Given the description of an element on the screen output the (x, y) to click on. 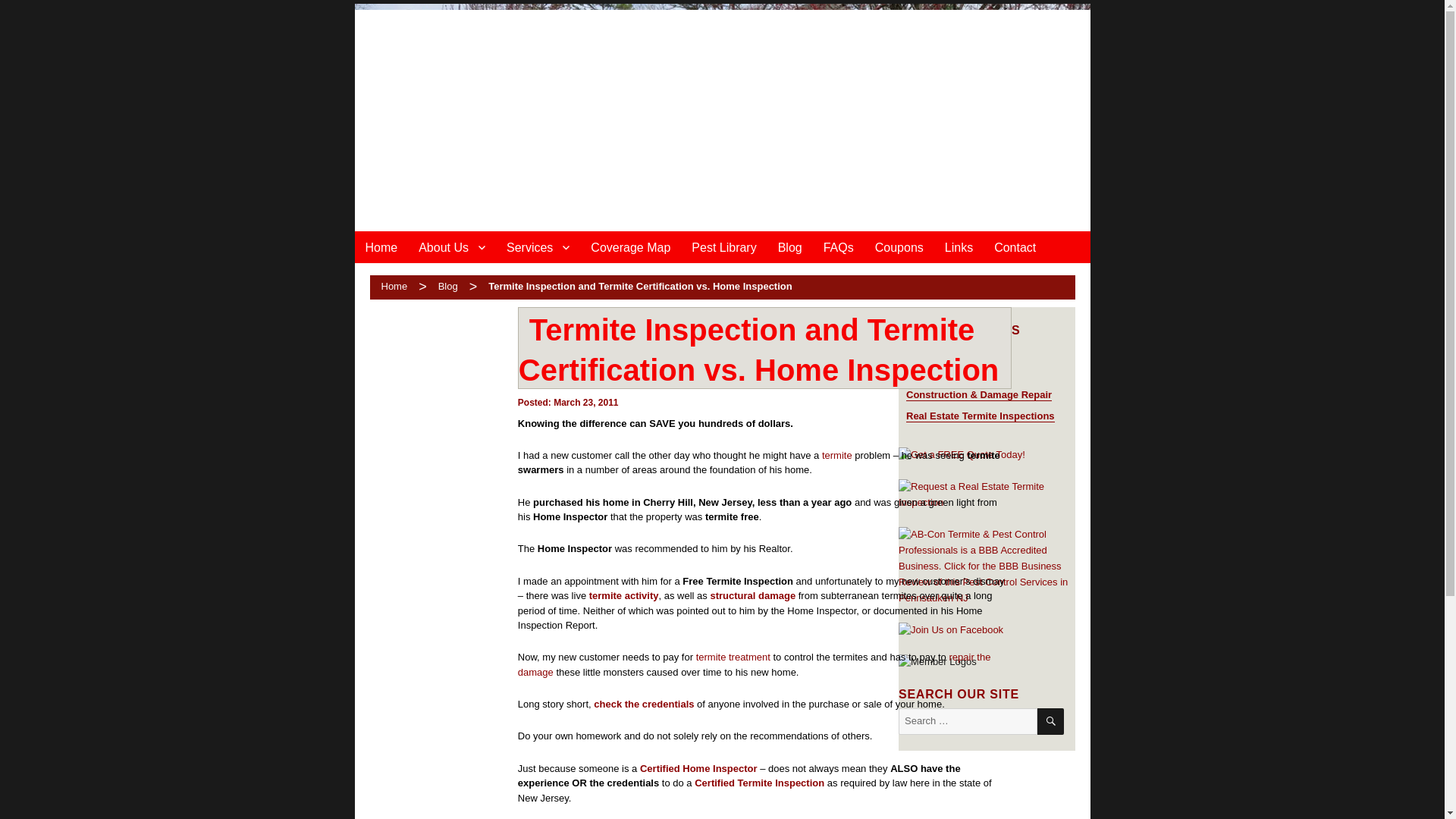
Pest Library (724, 246)
FAQs (838, 246)
repair the damage (754, 664)
Links (959, 246)
Home (388, 285)
Real Estate Termite Inspections (979, 415)
About Us (451, 246)
Certified Home Inspector (698, 767)
Pest Control (934, 372)
termite (836, 455)
Home (382, 246)
termite treatment (732, 656)
structural damage (752, 595)
Certified Termite Inspection (759, 782)
